Given the description of an element on the screen output the (x, y) to click on. 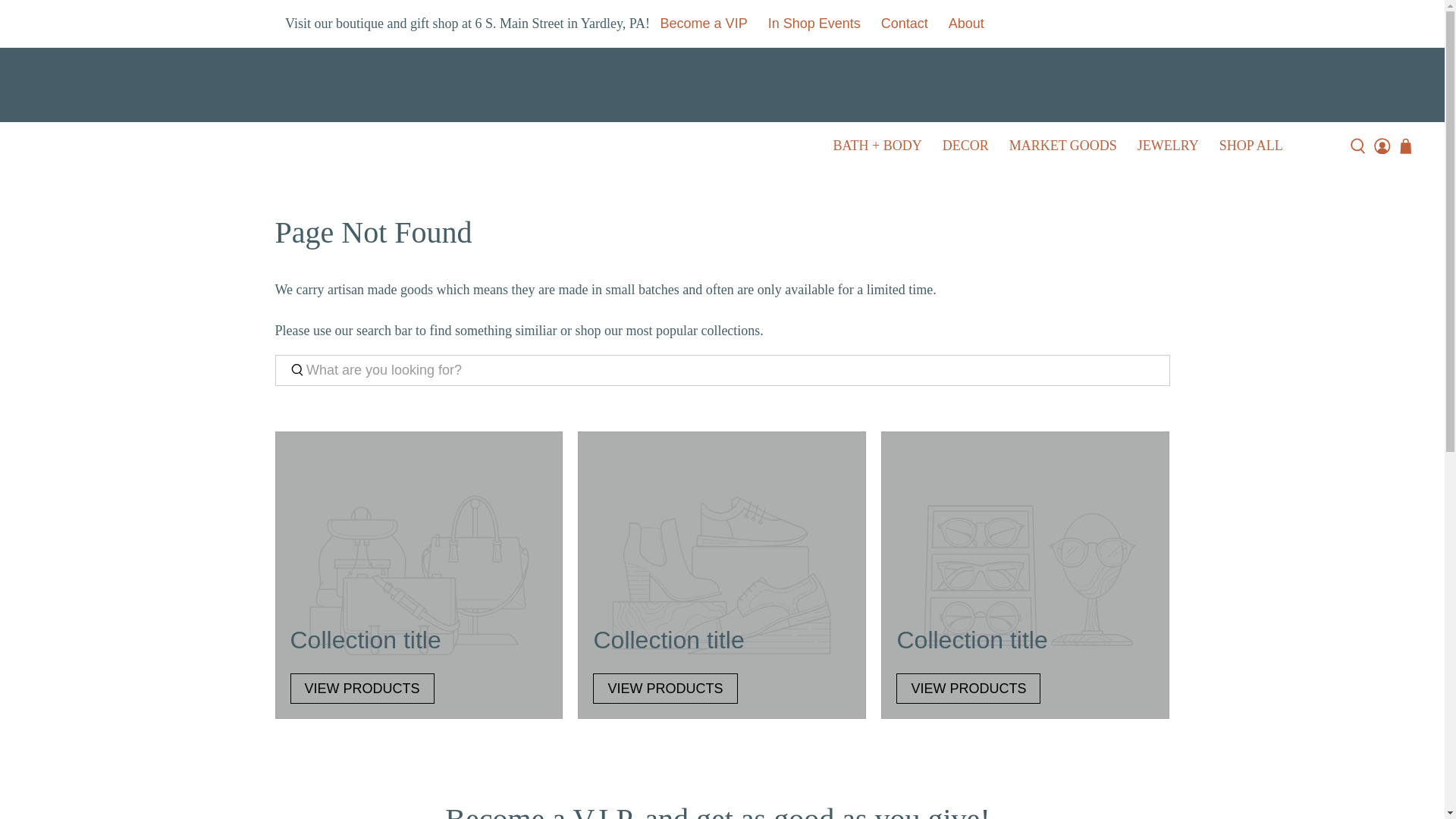
In Shop Events (813, 23)
Krysset Shop (721, 88)
VIEW PRODUCTS (968, 688)
JEWELRY (1167, 145)
Become a VIP (703, 23)
DECOR (964, 145)
SHOP ALL (1250, 145)
MARKET GOODS (722, 574)
Contact (1024, 574)
VIEW PRODUCTS (1062, 145)
About (903, 23)
VIEW PRODUCTS (664, 688)
